Given the description of an element on the screen output the (x, y) to click on. 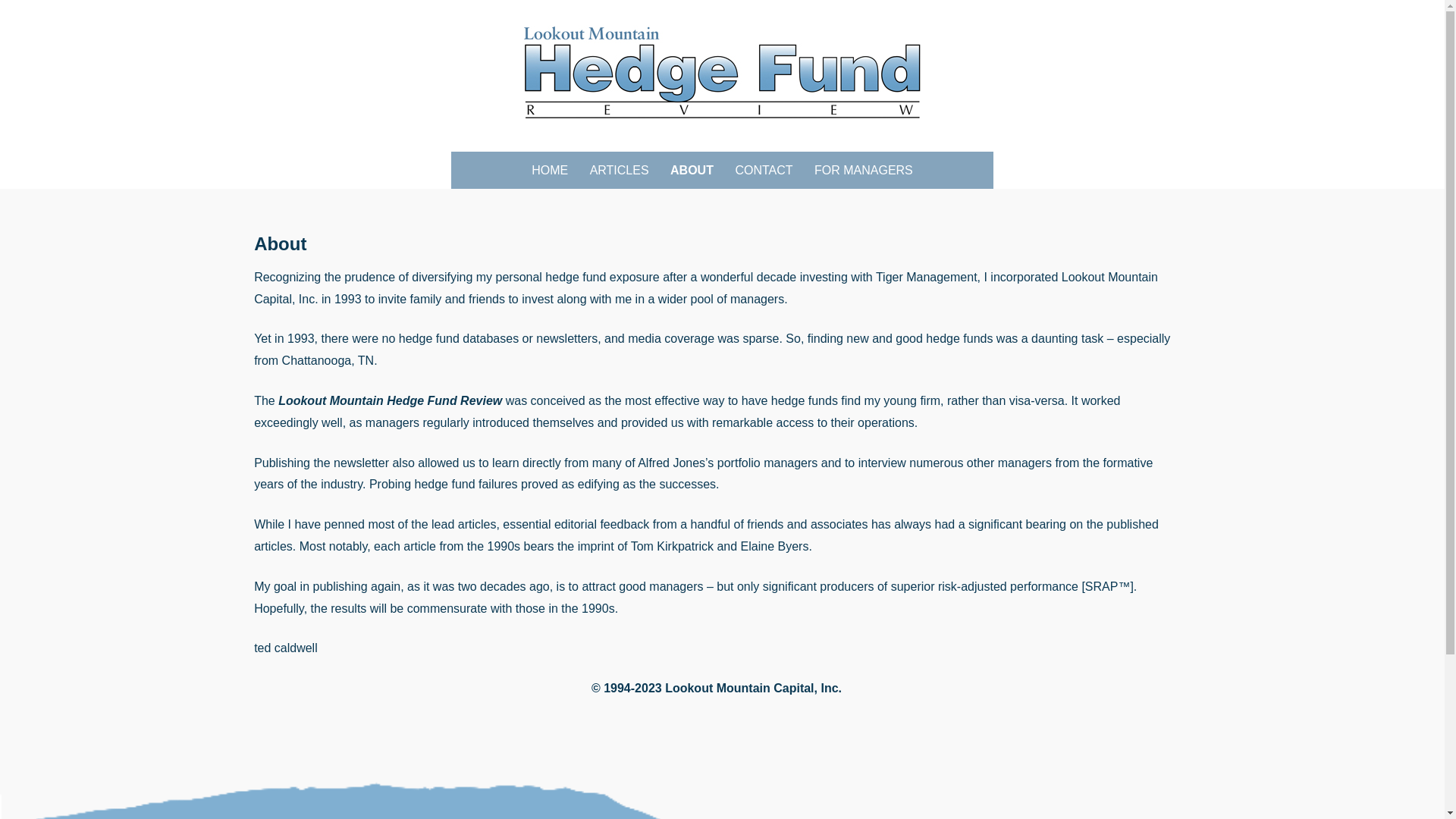
CONTACT (763, 170)
HOME (549, 170)
ARTICLES (619, 170)
ABOUT (691, 170)
FOR MANAGERS (863, 170)
